Given the description of an element on the screen output the (x, y) to click on. 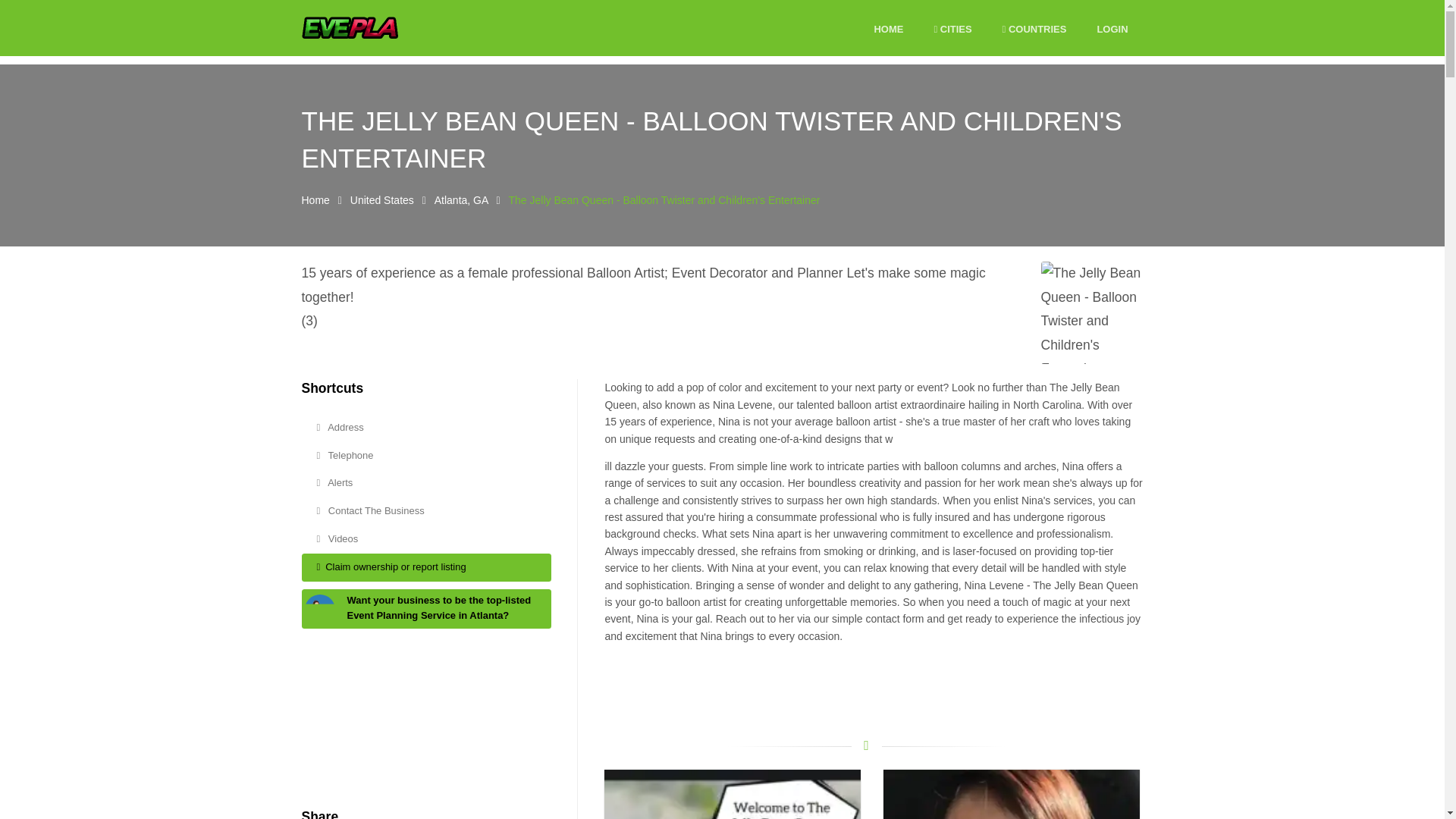
Telephone (426, 456)
Contact The Business (426, 511)
United States (381, 200)
CITIES (952, 29)
Address (426, 428)
Videos (426, 539)
Claim ownership or report listing (426, 567)
HOME (887, 29)
Home (315, 200)
Alerts (426, 483)
Atlanta, GA (460, 200)
